Given the description of an element on the screen output the (x, y) to click on. 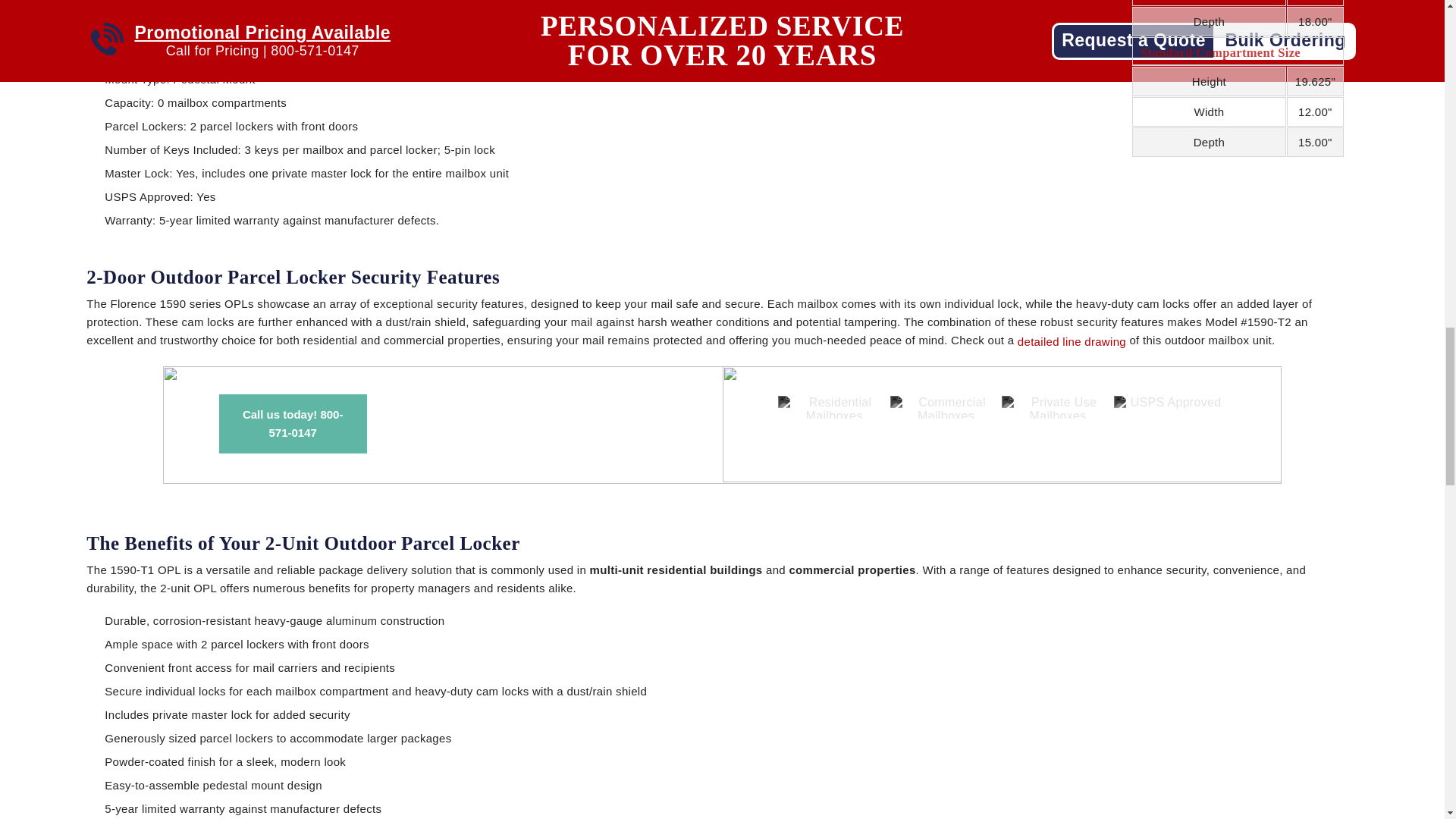
detailed line drawing (1071, 341)
